Given the description of an element on the screen output the (x, y) to click on. 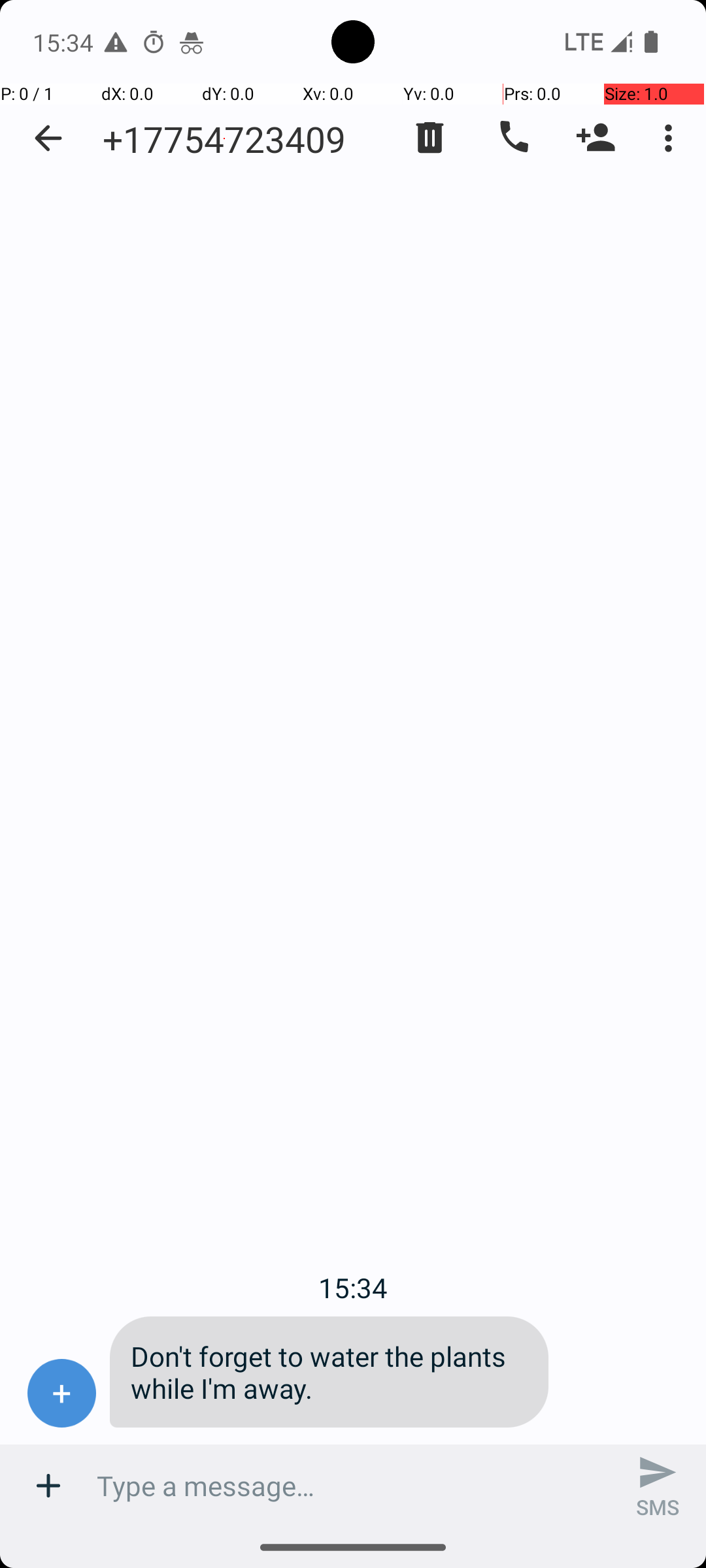
+17754723409 Element type: android.widget.TextView (223, 138)
Dial number Element type: android.widget.Button (512, 137)
Add Person Element type: android.widget.Button (595, 137)
Attachment Element type: android.widget.ImageView (48, 1485)
Type a message… Element type: android.widget.EditText (352, 1485)
SMS Element type: android.widget.Button (657, 1485)
Don't forget to water the plants while I'm away. Element type: android.widget.TextView (328, 1371)
